Given the description of an element on the screen output the (x, y) to click on. 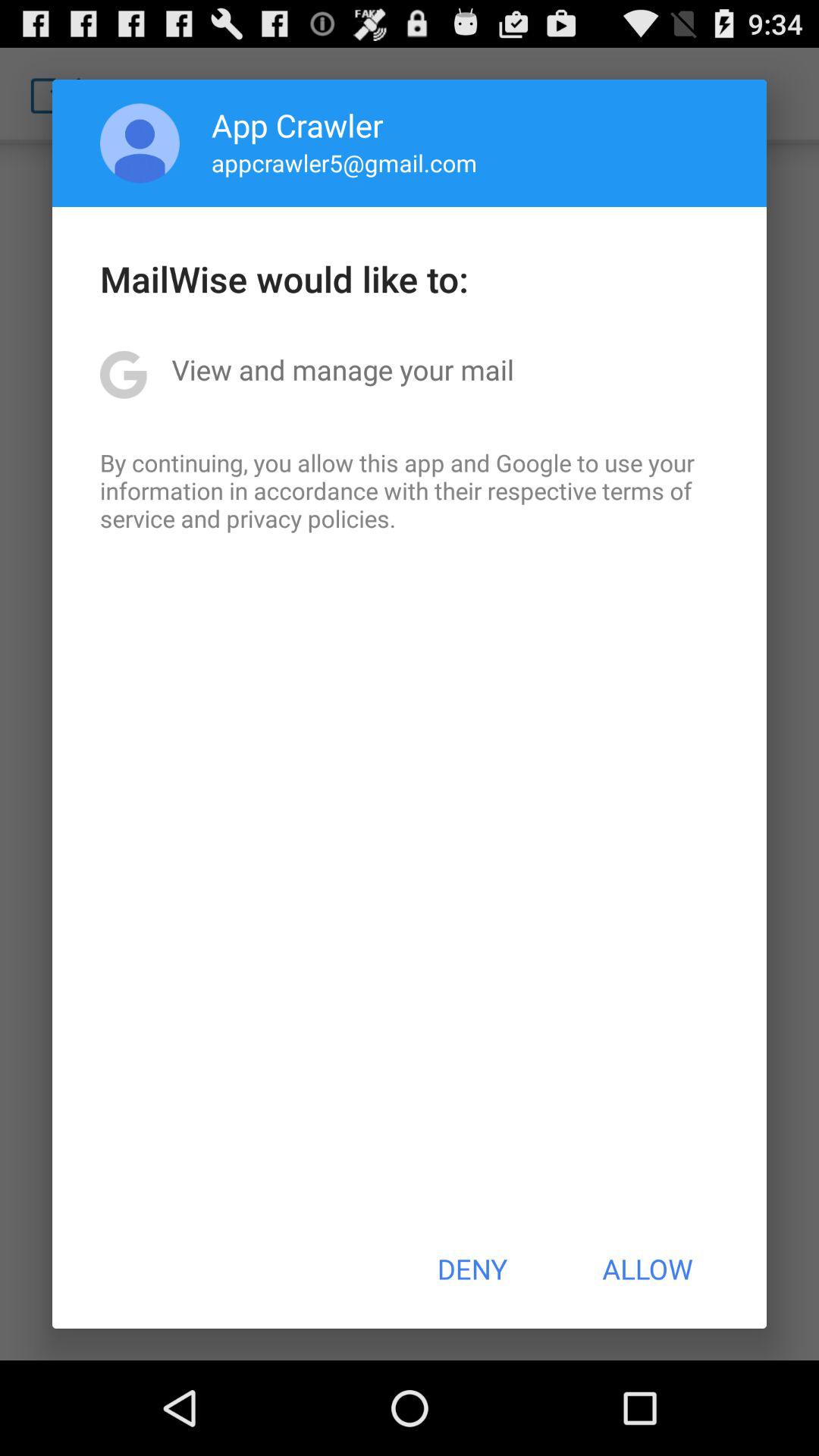
tap icon below app crawler (344, 162)
